Given the description of an element on the screen output the (x, y) to click on. 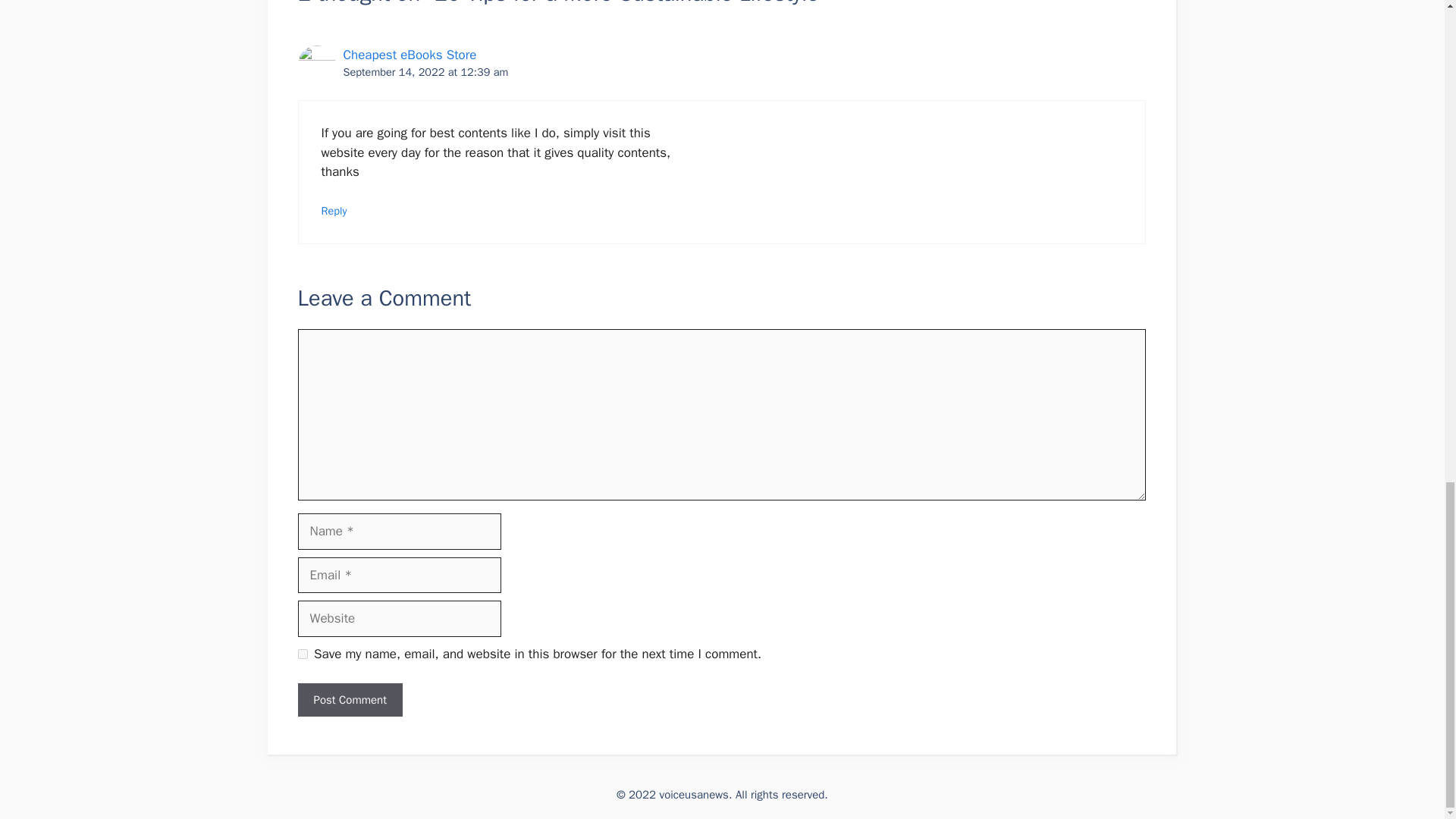
Cheapest eBooks Store (409, 54)
Scroll back to top (1406, 354)
September 14, 2022 at 12:39 am (425, 71)
Post Comment (349, 700)
Reply (334, 210)
Post Comment (349, 700)
yes (302, 654)
